Given the description of an element on the screen output the (x, y) to click on. 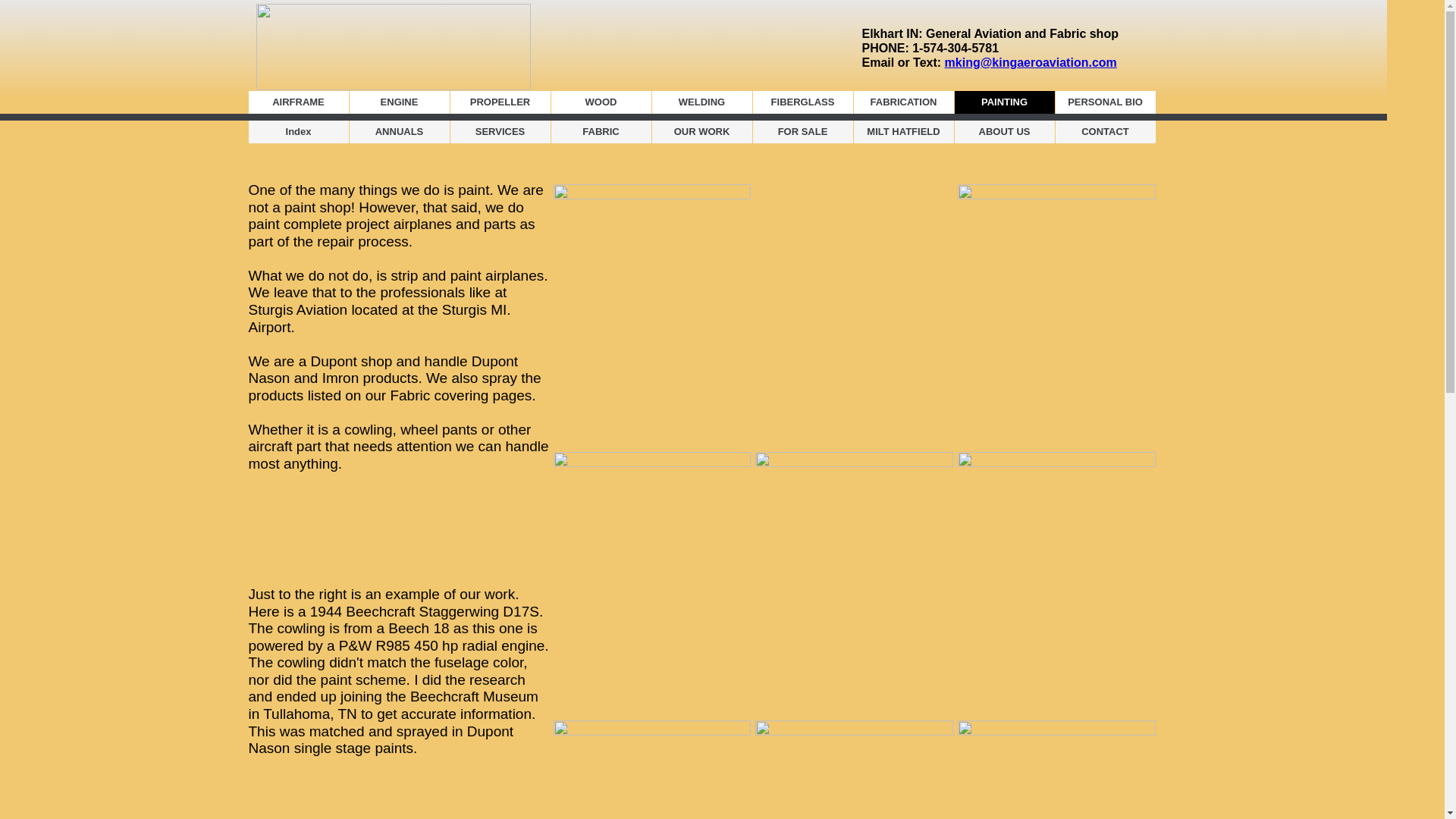
MILT HATFIELD (903, 131)
OUR WORK (702, 131)
ENGINE (398, 101)
SERVICES (499, 131)
WOOD (600, 101)
FIBERGLASS (801, 101)
OUR WORK (702, 131)
PROPELLER (499, 101)
PROPELLER (499, 101)
FABRICATION (903, 101)
ABOUT US (1003, 131)
FOR SALE (801, 131)
FABRIC (600, 131)
AIRFRAME (298, 101)
SERVICES (499, 131)
